Given the description of an element on the screen output the (x, y) to click on. 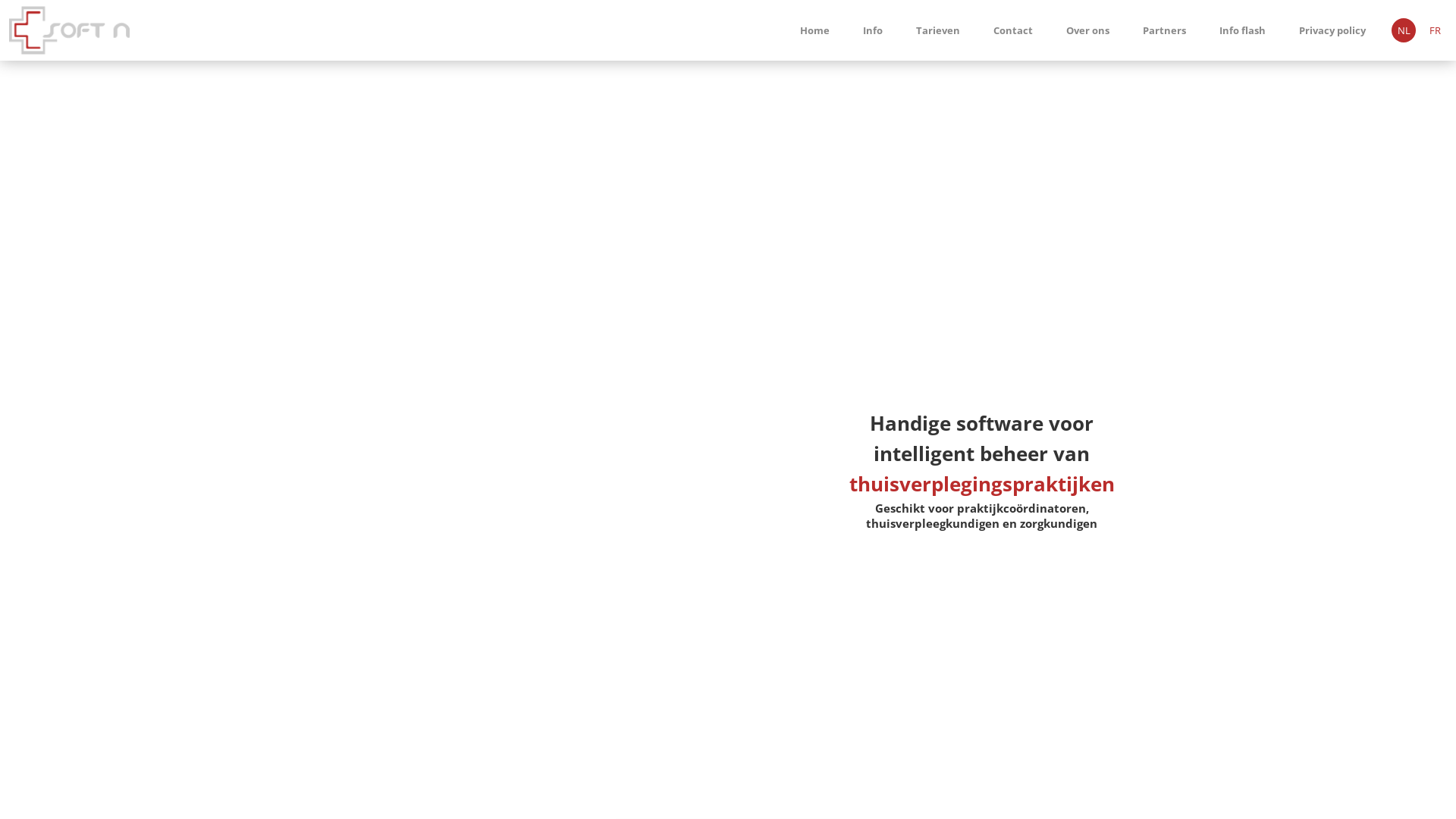
Privacy policy Element type: text (1332, 30)
Info Element type: text (872, 30)
Over ons Element type: text (1087, 30)
Home Element type: text (814, 30)
Tarieven Element type: text (937, 30)
Info flash Element type: text (1242, 30)
NL Element type: text (1403, 30)
FR Element type: text (1434, 30)
Partners Element type: text (1164, 30)
Contact Element type: text (1012, 30)
